Given the description of an element on the screen output the (x, y) to click on. 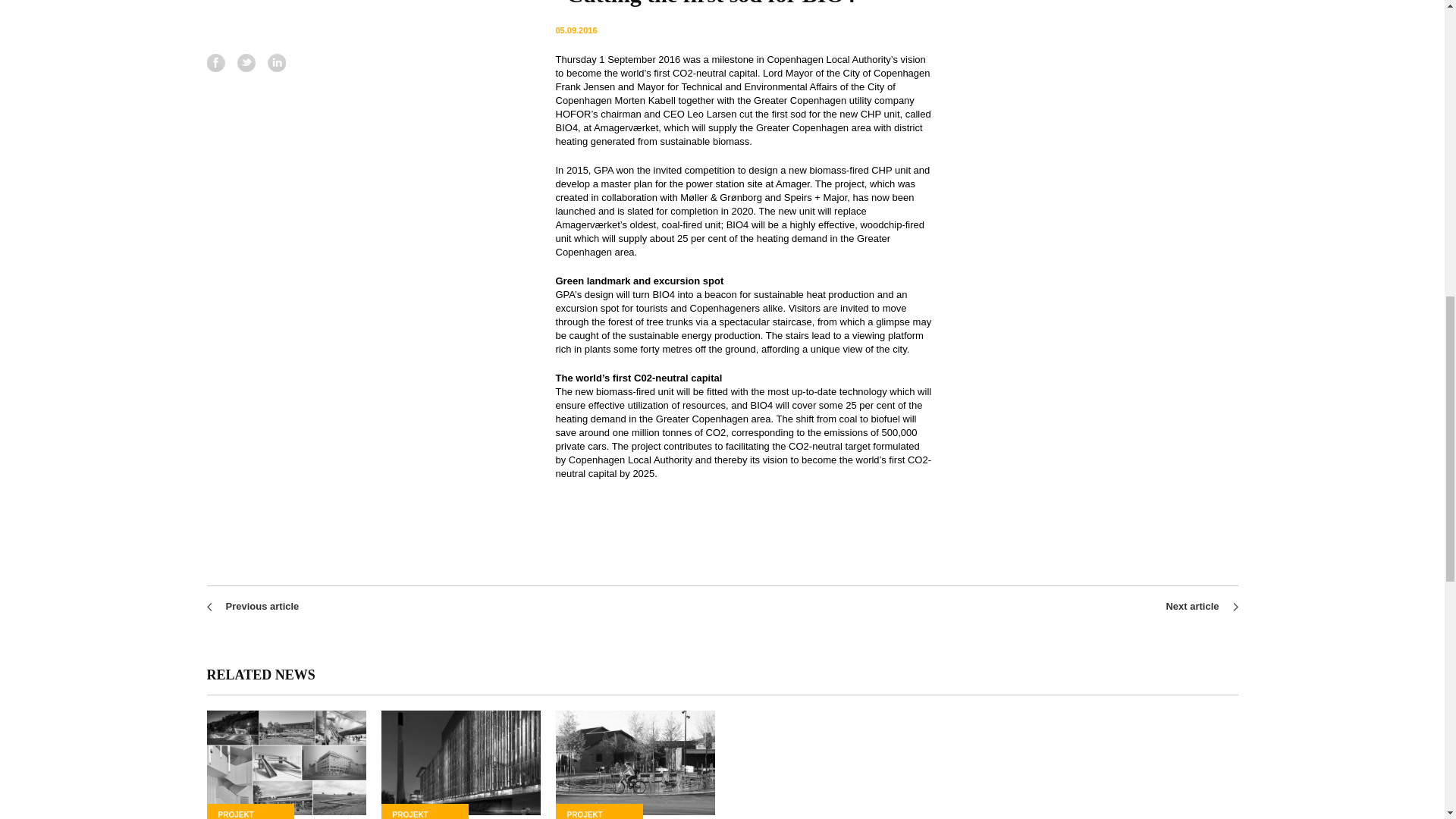
Facebook (215, 63)
Twitter (244, 63)
Next article (1192, 605)
Linkedin (275, 63)
Previous article (261, 605)
